Given the description of an element on the screen output the (x, y) to click on. 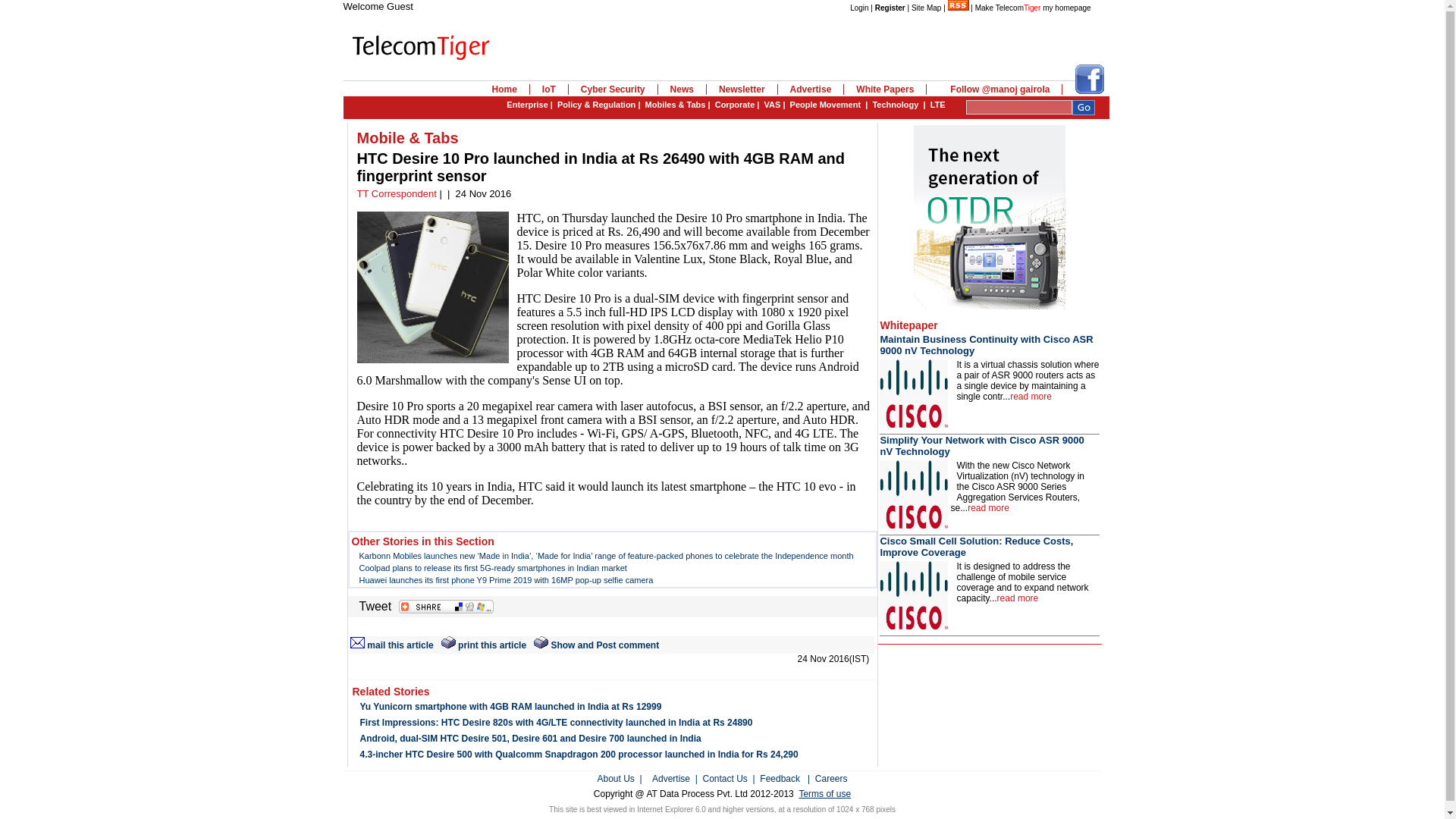
People Movement (825, 103)
Cyber Security (613, 88)
LTE (937, 103)
Newsletter (741, 88)
Register (890, 8)
White Papers (885, 88)
VAS (772, 103)
Home (504, 88)
